Given the description of an element on the screen output the (x, y) to click on. 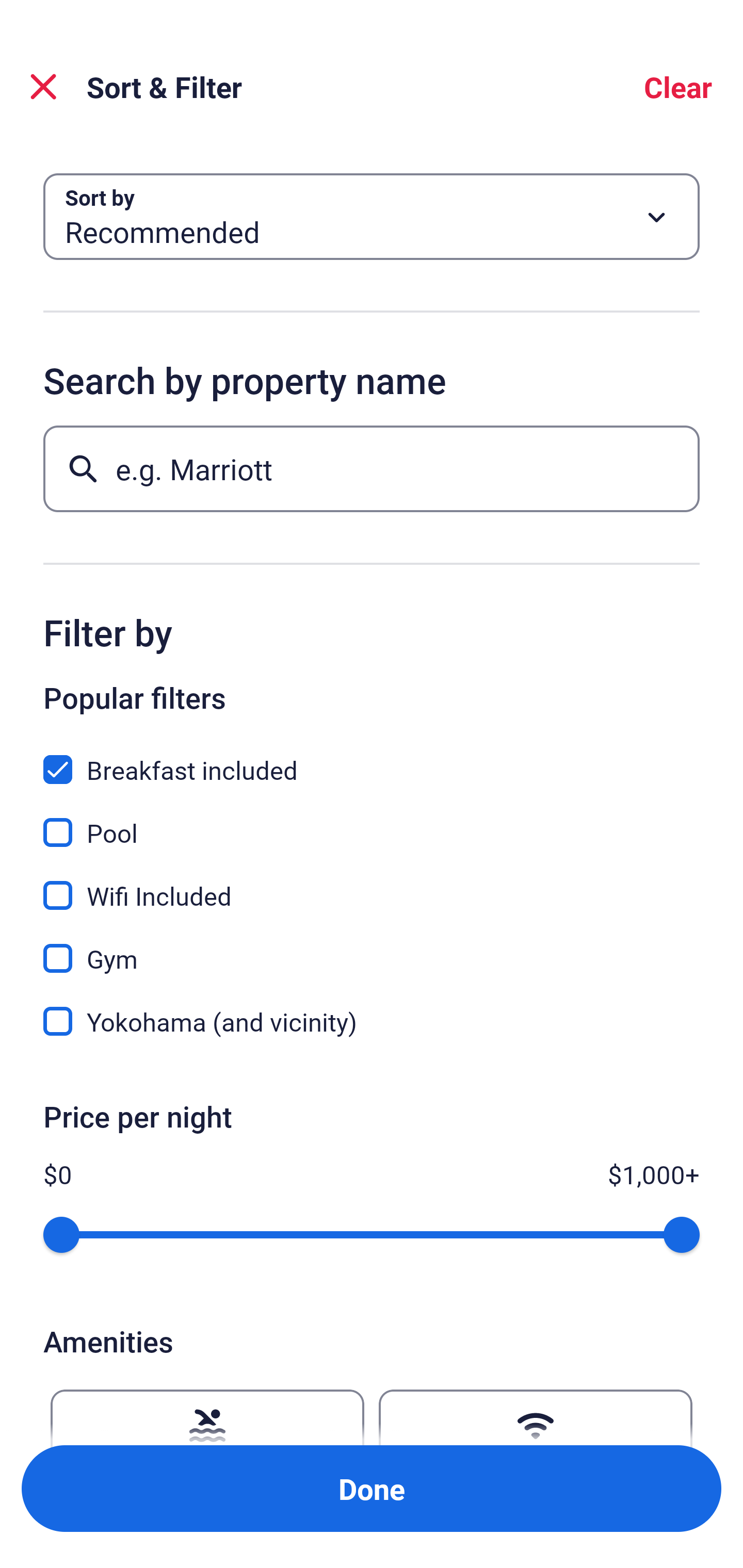
Close Sort and Filter (43, 86)
Clear (677, 86)
Sort by Button Recommended (371, 217)
e.g. Marriott Button (371, 468)
Breakfast included, Breakfast included (371, 757)
Pool, Pool (371, 821)
Wifi Included, Wifi Included (371, 883)
Gym, Gym (371, 946)
Yokohama (and vicinity), Yokohama (and vicinity) (371, 1021)
Apply and close Sort and Filter Done (371, 1488)
